Given the description of an element on the screen output the (x, y) to click on. 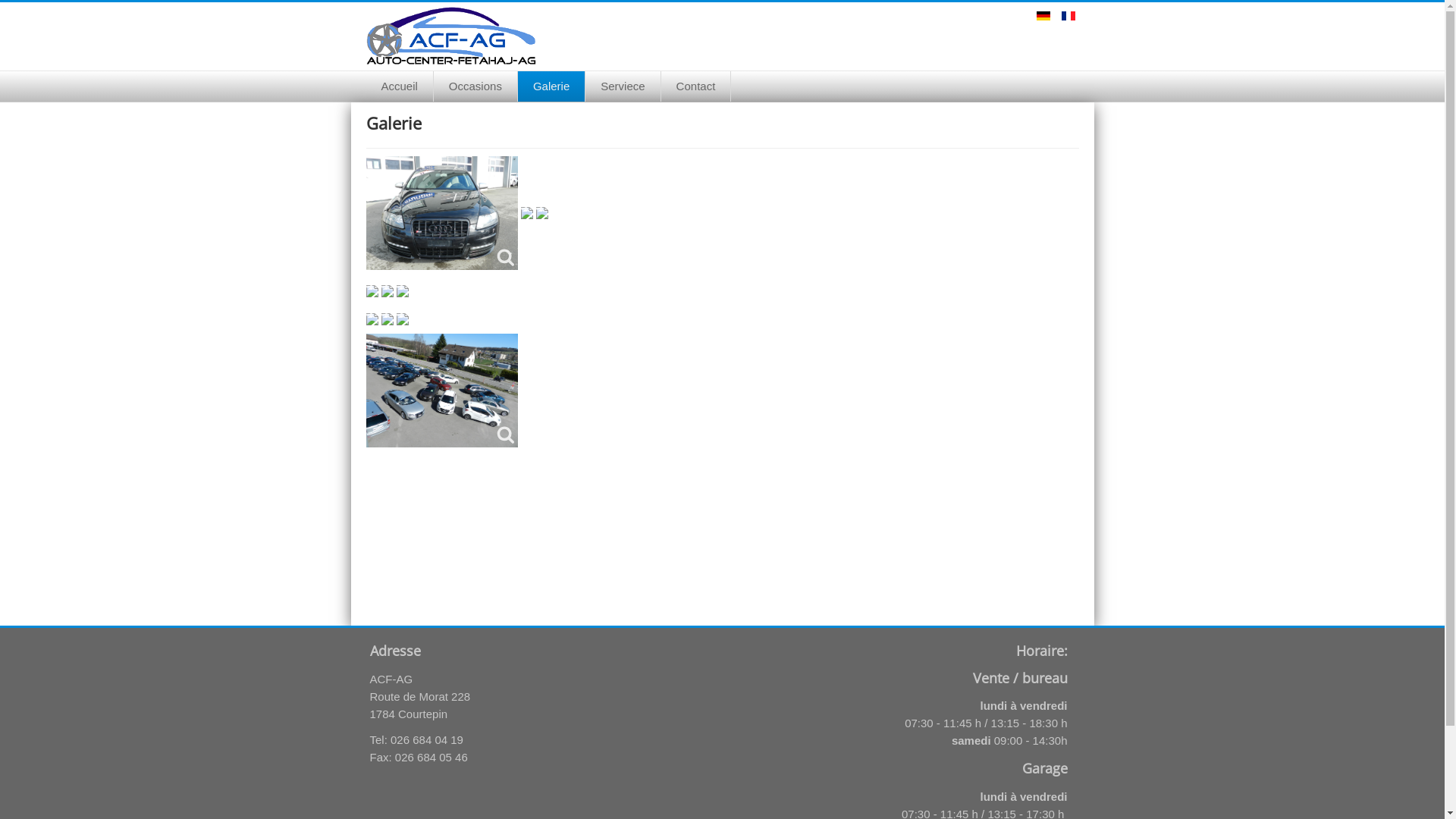
Accueil Element type: text (399, 86)
Galerie Element type: text (551, 86)
Contact Element type: text (696, 86)
Serviece Element type: text (622, 86)
Deutsch Element type: hover (1043, 15)
Occasions Element type: text (475, 86)
